Given the description of an element on the screen output the (x, y) to click on. 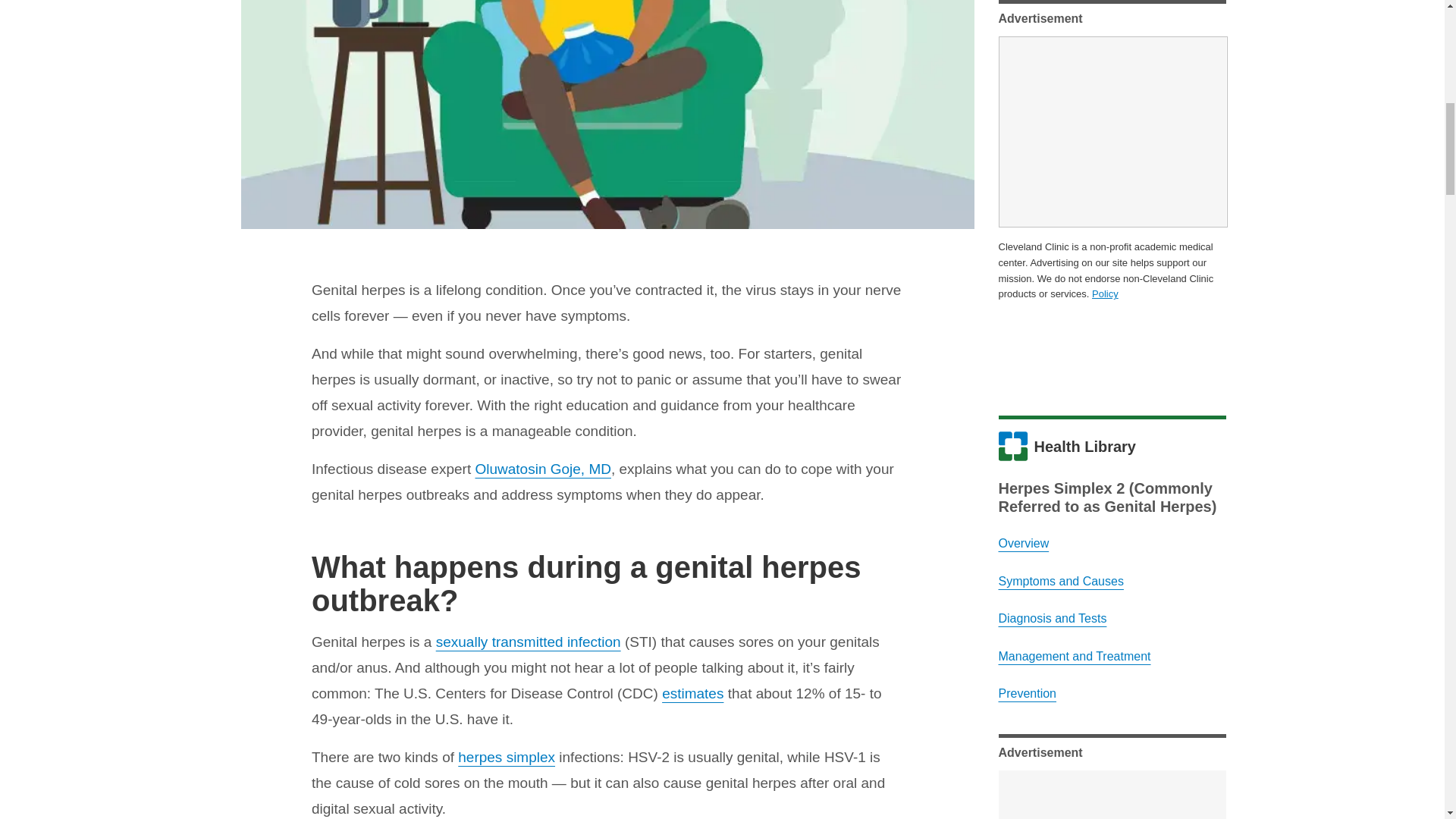
herpes simplex (506, 756)
estimates (692, 693)
sexually transmitted infection (528, 641)
Oluwatosin Goje, MD (542, 468)
